Given the description of an element on the screen output the (x, y) to click on. 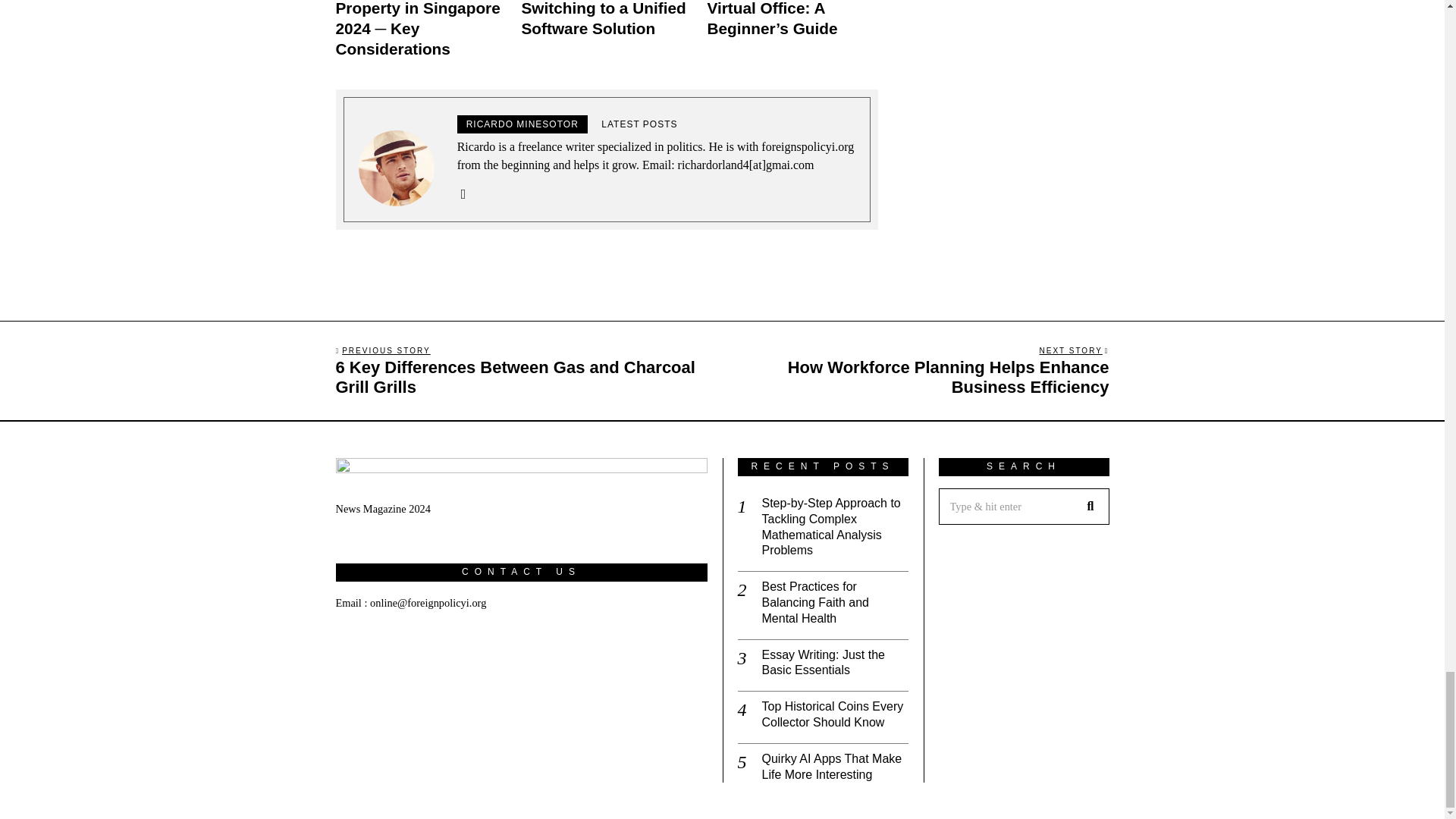
Go (1089, 506)
LATEST POSTS (638, 124)
RICARDO MINESOTOR (522, 124)
7 Benefits of Switching to a Unified Software Solution (603, 18)
